Given the description of an element on the screen output the (x, y) to click on. 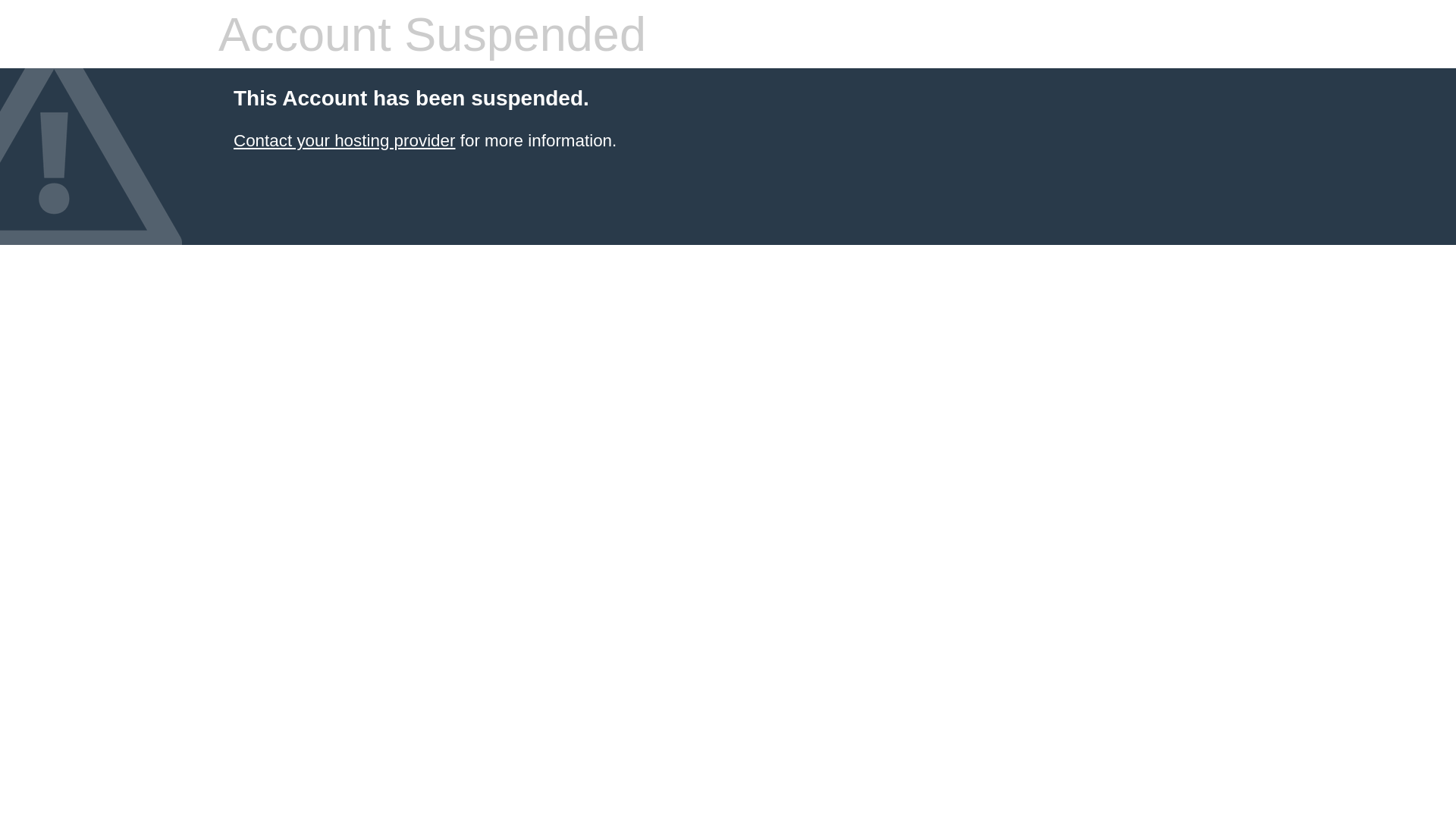
Contact your hosting provider Element type: text (344, 140)
